Given the description of an element on the screen output the (x, y) to click on. 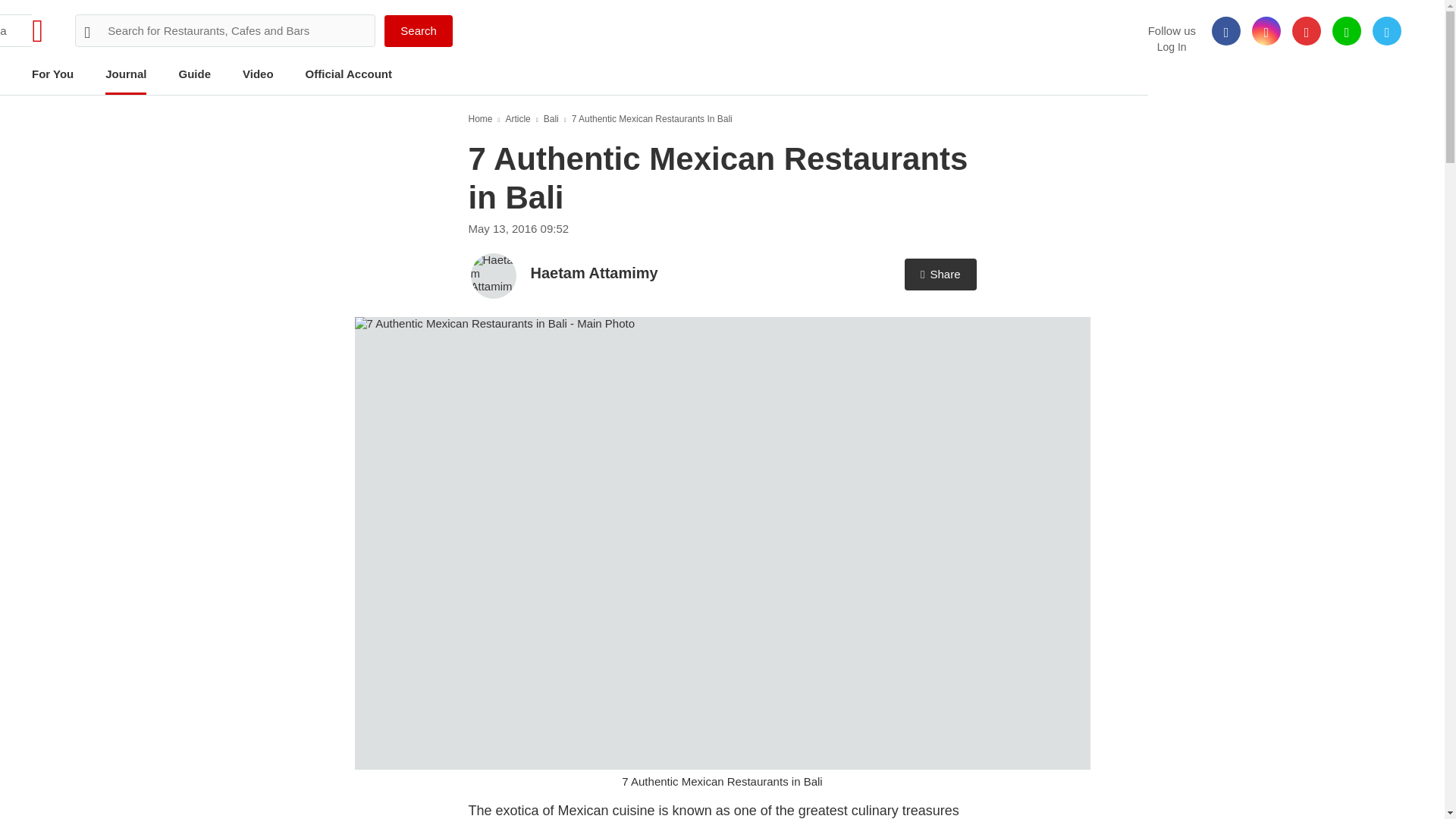
Journal (125, 75)
Home (484, 118)
Share (940, 274)
Bali (554, 118)
For You (53, 75)
Article (521, 118)
Official Account (348, 75)
Search (418, 30)
7 Authentic Mexican Restaurants In Bali (652, 118)
